Given the description of an element on the screen output the (x, y) to click on. 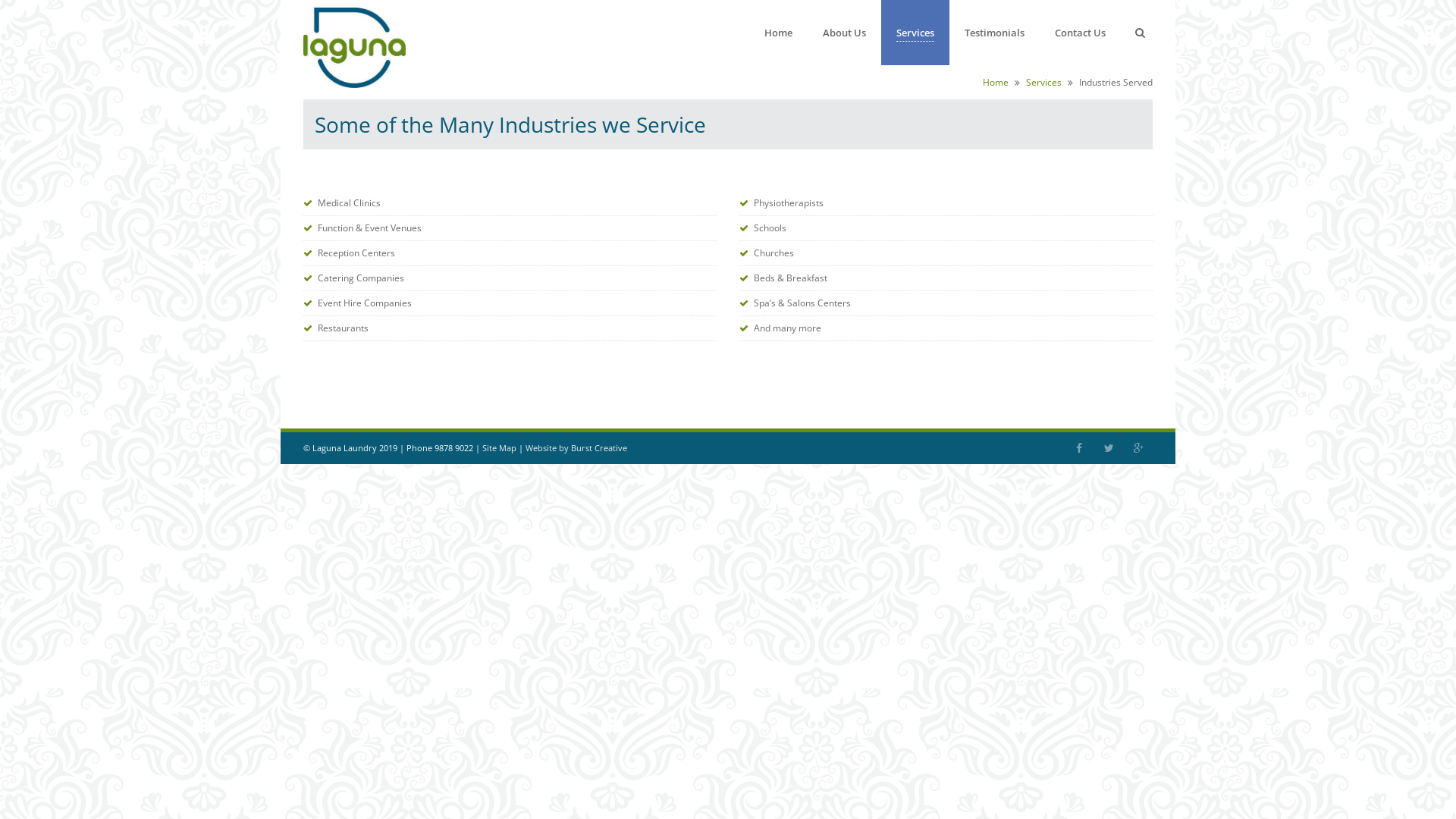
Laguna Laundry and Linen Services Element type: hover (354, 87)
Services Element type: text (1043, 81)
Testimonials Element type: text (994, 32)
facebook Element type: hover (1078, 448)
Contact Us Element type: text (1079, 32)
About Us Element type: text (844, 32)
Services Element type: text (915, 32)
Home Element type: text (995, 81)
twitter Element type: hover (1108, 448)
google-plus Element type: hover (1137, 448)
Website by Burst Creative Element type: text (576, 447)
Site Map Element type: text (499, 447)
Home Element type: text (778, 32)
